Given the description of an element on the screen output the (x, y) to click on. 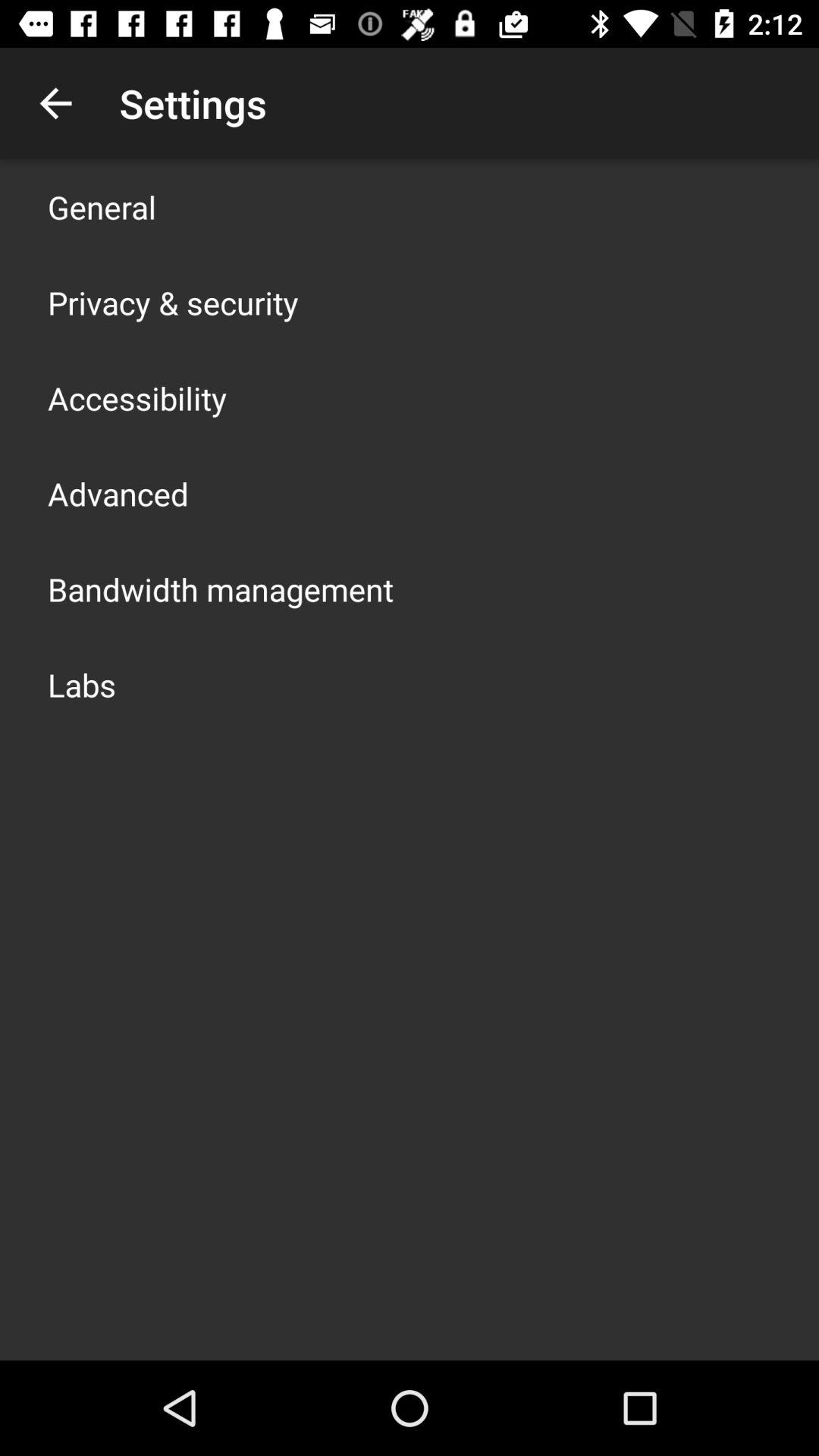
select icon above general app (55, 103)
